Given the description of an element on the screen output the (x, y) to click on. 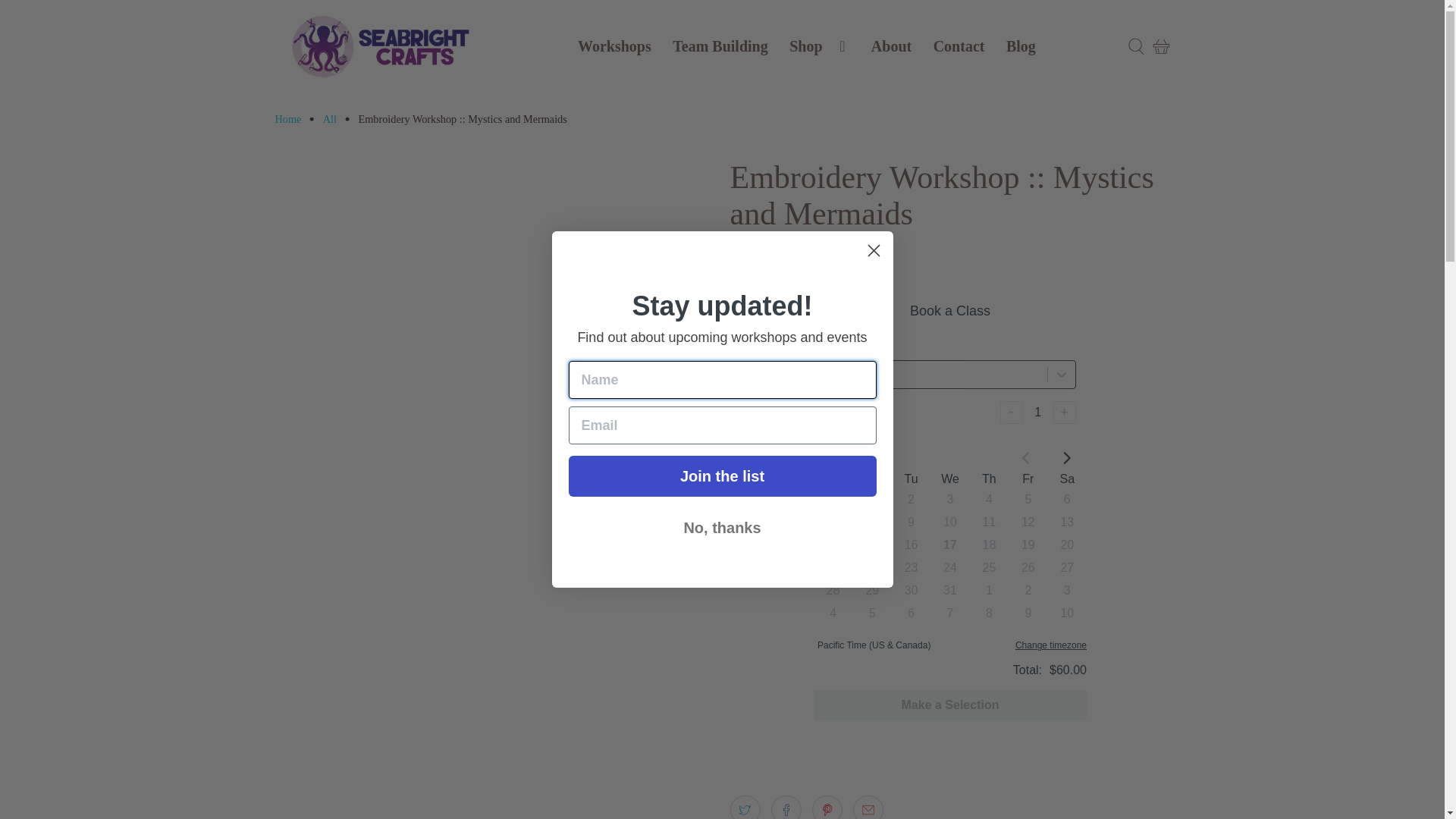
Team Building (720, 46)
Share this on Pinterest (827, 807)
All (329, 118)
Share this on Facebook (786, 807)
Blog (1020, 46)
Home (288, 118)
Workshops (614, 46)
Shop (819, 46)
Seabright Crafts (382, 46)
Share this on Twitter (744, 807)
Seabright Crafts (288, 118)
Close dialog 1 (873, 250)
About (891, 46)
Email this to a friend (868, 807)
Contact (957, 46)
